Given the description of an element on the screen output the (x, y) to click on. 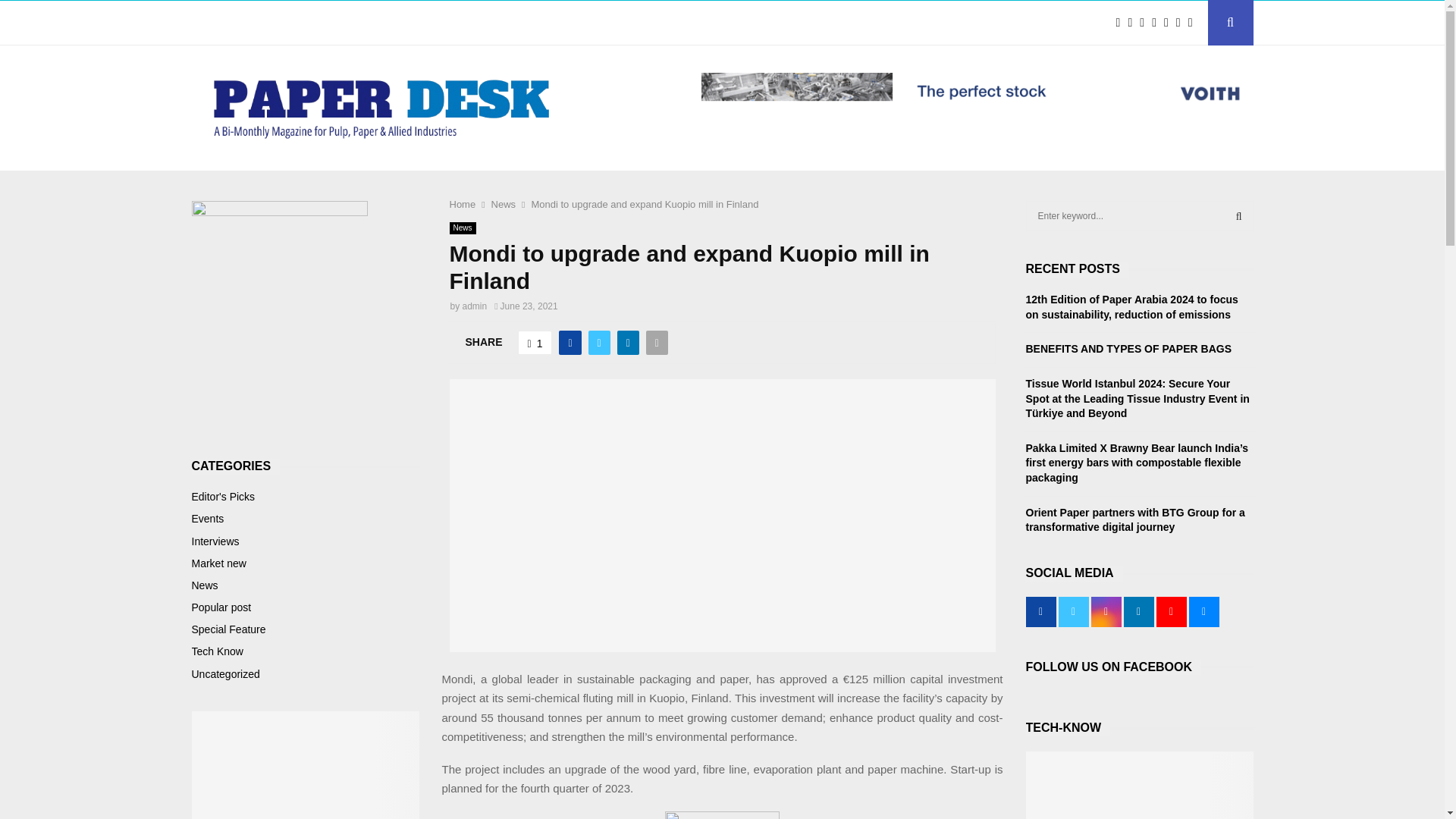
TECH-KNOW (460, 22)
HOME (218, 22)
INTERVIEWS (362, 22)
NEWS (281, 22)
